Given the description of an element on the screen output the (x, y) to click on. 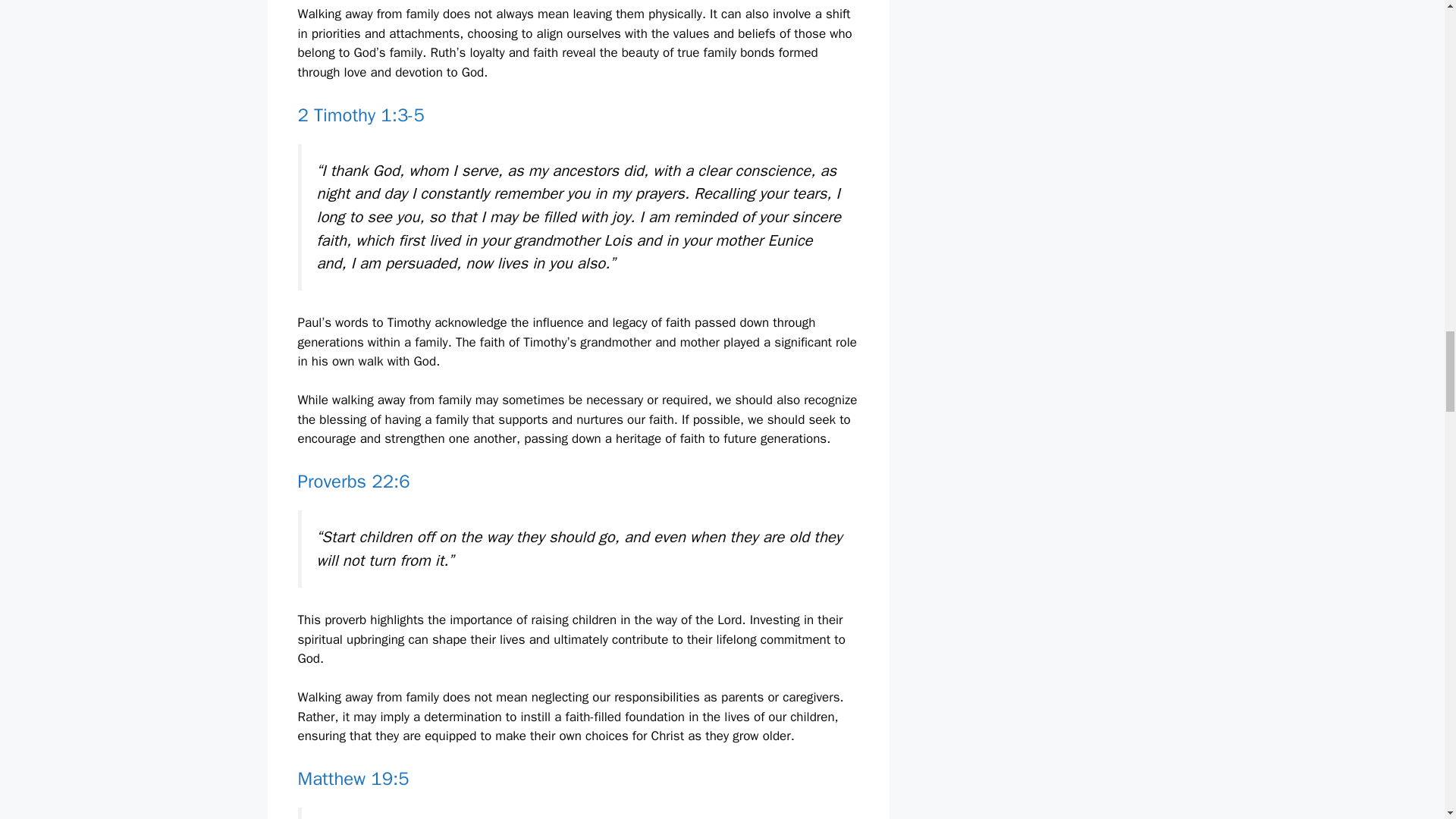
Proverbs 22:6 (353, 481)
2 Timothy 1:3-5 (360, 115)
Matthew 19:5 (353, 778)
